Given the description of an element on the screen output the (x, y) to click on. 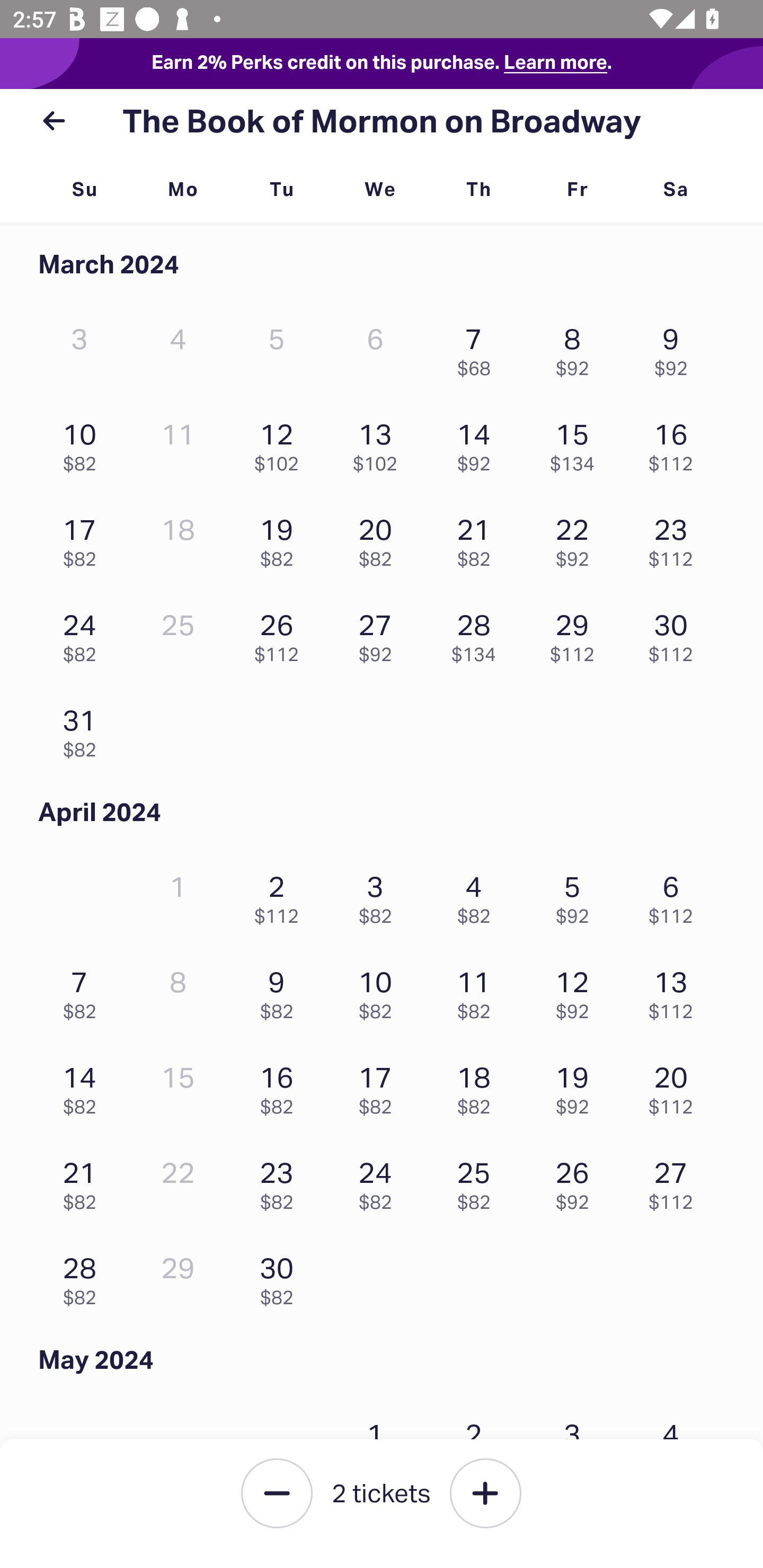
Earn 2% Perks credit on this purchase. Learn more. (381, 63)
back button (53, 120)
7 $68 (478, 347)
8 $92 (577, 347)
9 $92 (675, 347)
10 $82 (84, 442)
12 $102 (281, 442)
13 $102 (379, 442)
14 $92 (478, 442)
15 $134 (577, 442)
16 $112 (675, 442)
17 $82 (84, 538)
19 $82 (281, 538)
20 $82 (379, 538)
21 $82 (478, 538)
22 $92 (577, 538)
23 $112 (675, 538)
24 $82 (84, 633)
26 $112 (281, 633)
27 $92 (379, 633)
28 $134 (478, 633)
29 $112 (577, 633)
30 $112 (675, 633)
31 $82 (84, 728)
2 $112 (281, 895)
3 $82 (379, 895)
4 $82 (478, 895)
5 $92 (577, 895)
6 $112 (675, 895)
7 $82 (84, 989)
9 $82 (281, 989)
10 $82 (379, 989)
11 $82 (478, 989)
12 $92 (577, 989)
13 $112 (675, 989)
14 $82 (84, 1085)
16 $82 (281, 1085)
17 $82 (379, 1085)
18 $82 (478, 1085)
19 $92 (577, 1085)
20 $112 (675, 1085)
21 $82 (84, 1181)
23 $82 (281, 1181)
24 $82 (379, 1181)
25 $82 (478, 1181)
26 $92 (577, 1181)
27 $112 (675, 1181)
28 $82 (84, 1276)
30 $82 (281, 1276)
